Given the description of an element on the screen output the (x, y) to click on. 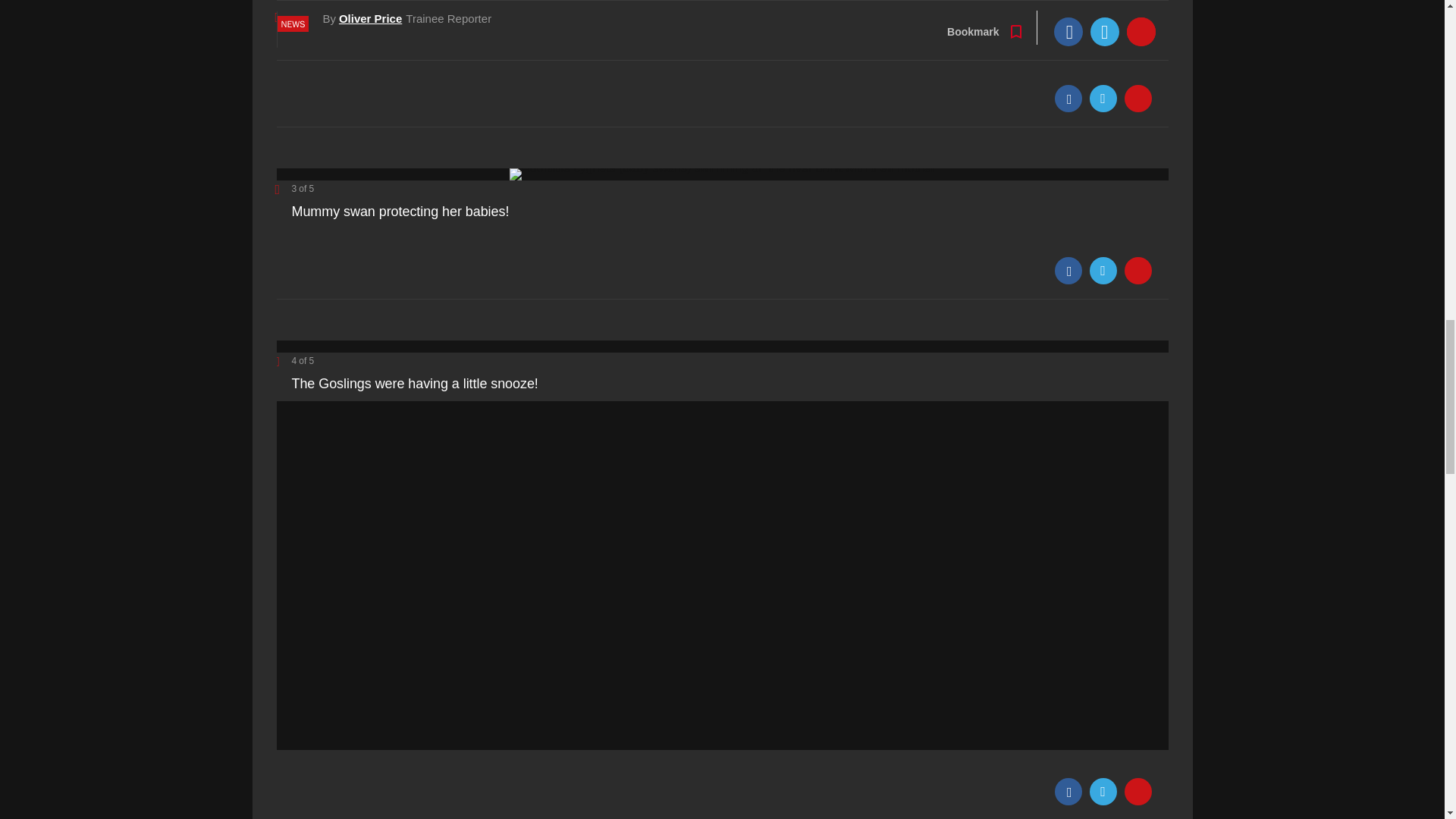
Facebook (1067, 270)
Facebook (1067, 98)
Twitter (1102, 98)
Twitter (1102, 791)
Twitter (1102, 270)
Facebook (1067, 791)
